Given the description of an element on the screen output the (x, y) to click on. 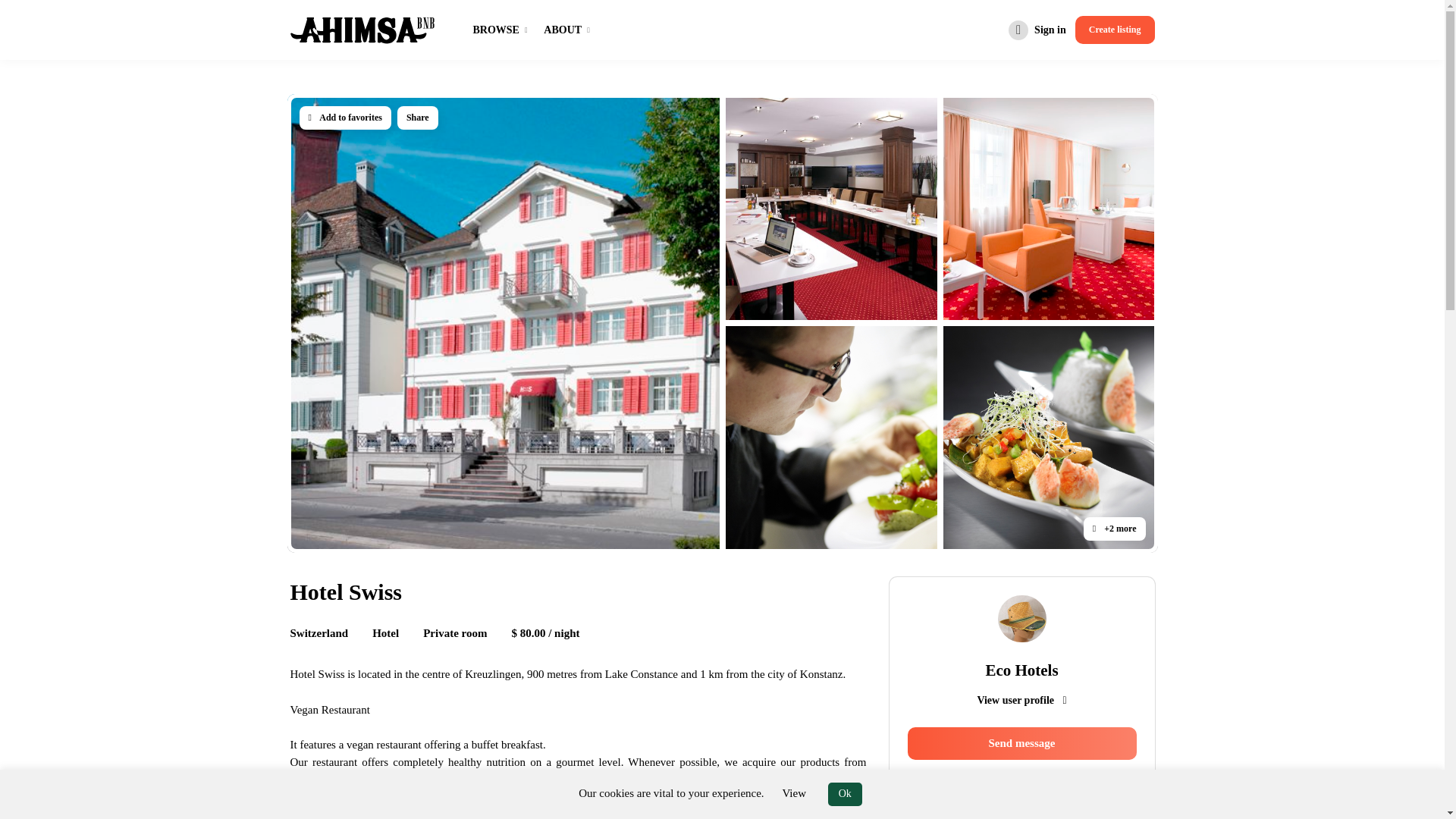
Share (417, 117)
Send message (1021, 743)
Add to favorites (344, 117)
Create listing (1114, 29)
View user profile (1020, 699)
      BROWSE (491, 29)
   ABOUT (563, 29)
Sign in (1037, 29)
